Given the description of an element on the screen output the (x, y) to click on. 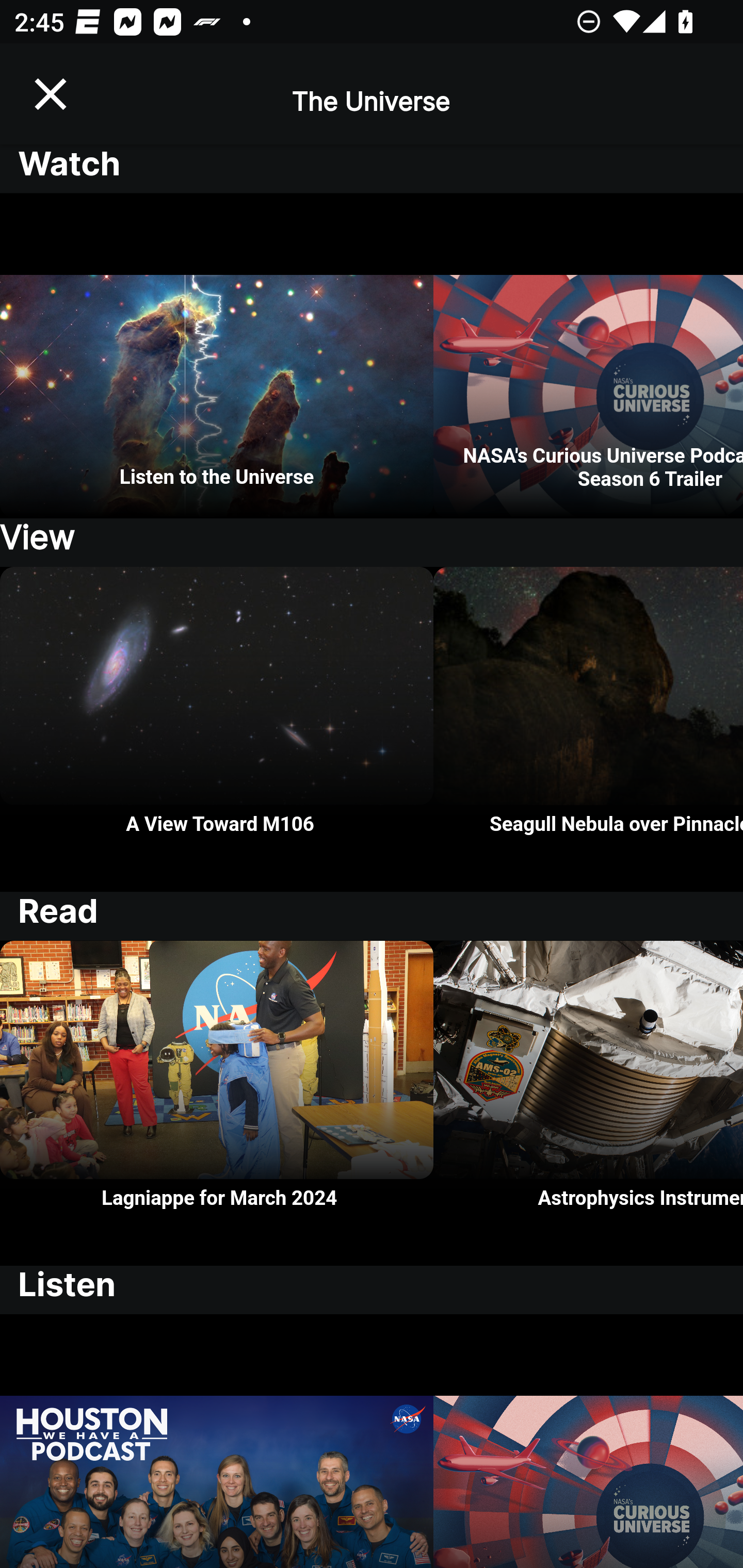
Listen to the Universe (216, 355)
A View Toward M106 (216, 729)
Seagull Nebula over Pinnacles' Peak (588, 729)
Lagniappe for March 2024 (216, 1102)
Astrophysics Instruments (588, 1102)
Astronaut Graduation 2024 (216, 1440)
Planet Hunting with Host Padi Boyd (588, 1440)
